Given the description of an element on the screen output the (x, y) to click on. 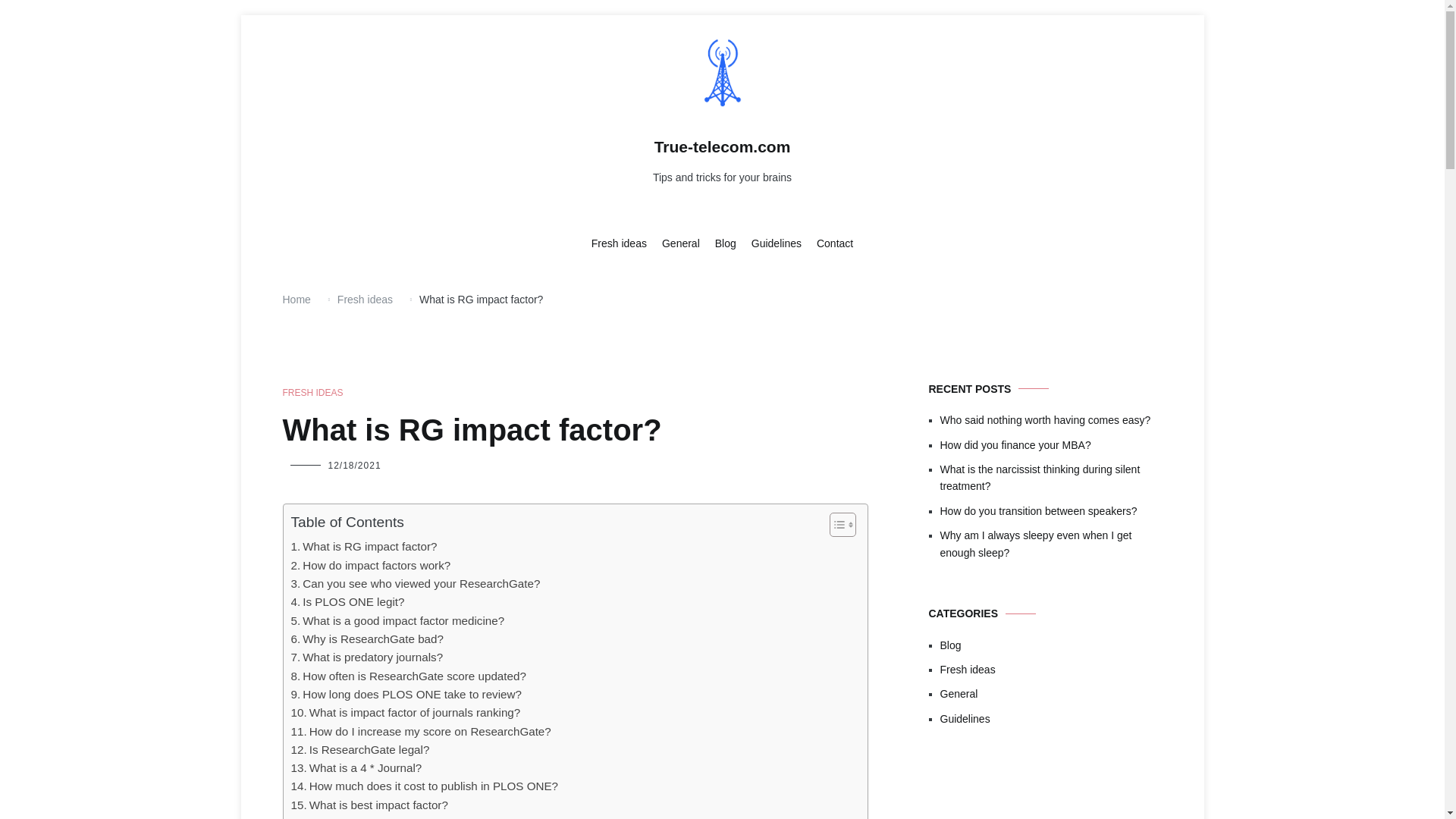
Home (296, 299)
True-telecom.com (721, 146)
How do I increase my score on ResearchGate? (421, 731)
Is ResearchGate legal? (360, 750)
General (681, 244)
How much does it cost to publish in PLOS ONE? (425, 786)
FRESH IDEAS (312, 392)
How long does PLOS ONE take to review? (406, 694)
How do I increase my score on ResearchGate? (421, 731)
